Given the description of an element on the screen output the (x, y) to click on. 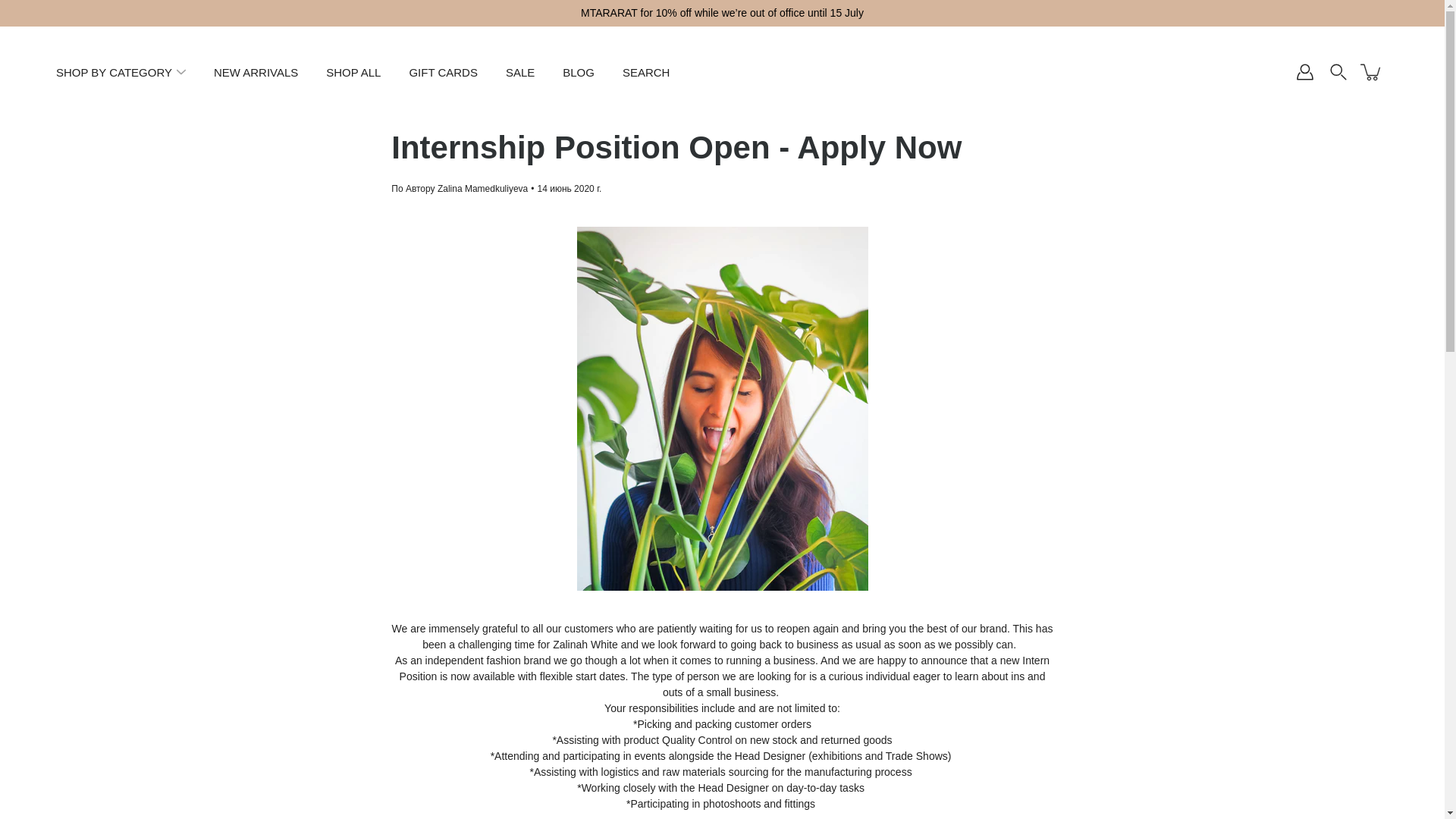
SALE (519, 71)
SEARCH (646, 71)
GIFT CARDS (443, 71)
SHOP ALL (353, 71)
NEW ARRIVALS (256, 71)
BLOG (578, 71)
SHOP BY CATEGORY (113, 71)
